Given the description of an element on the screen output the (x, y) to click on. 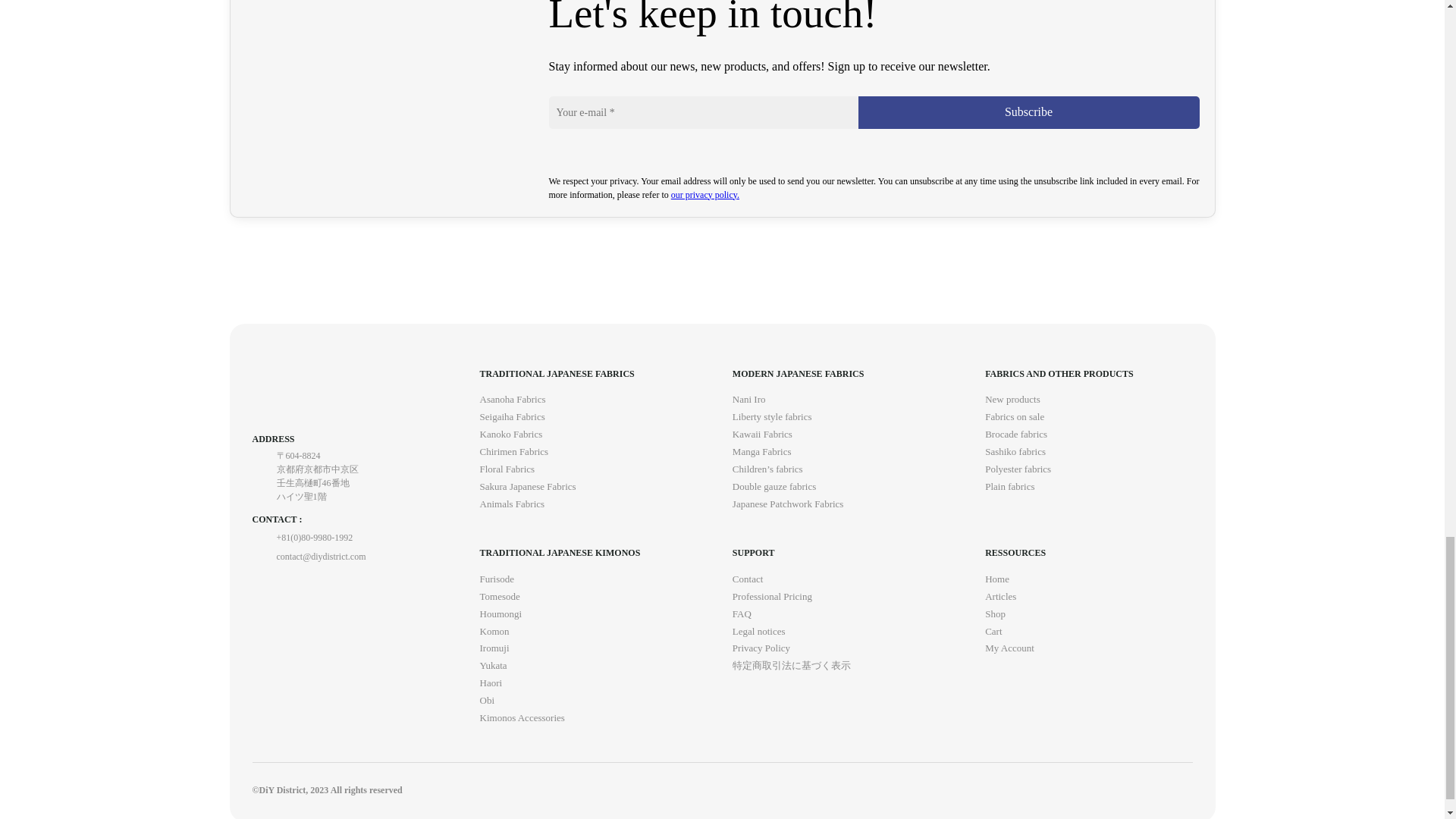
Subscribe (1029, 111)
